Given the description of an element on the screen output the (x, y) to click on. 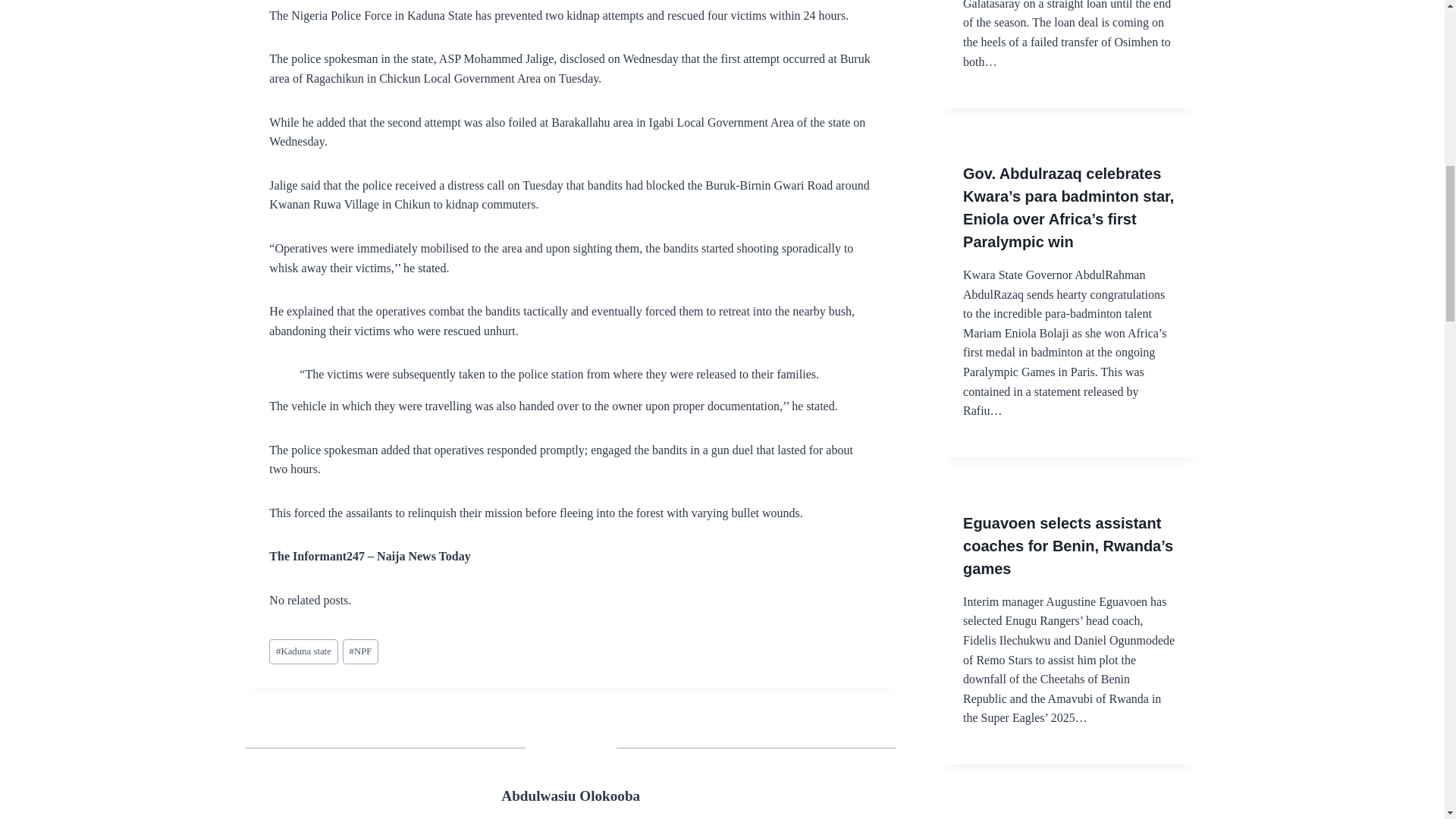
Abdulwasiu Olokooba (570, 795)
Kaduna state (303, 651)
Posts by Abdulwasiu Olokooba (570, 795)
NPF (360, 651)
